Given the description of an element on the screen output the (x, y) to click on. 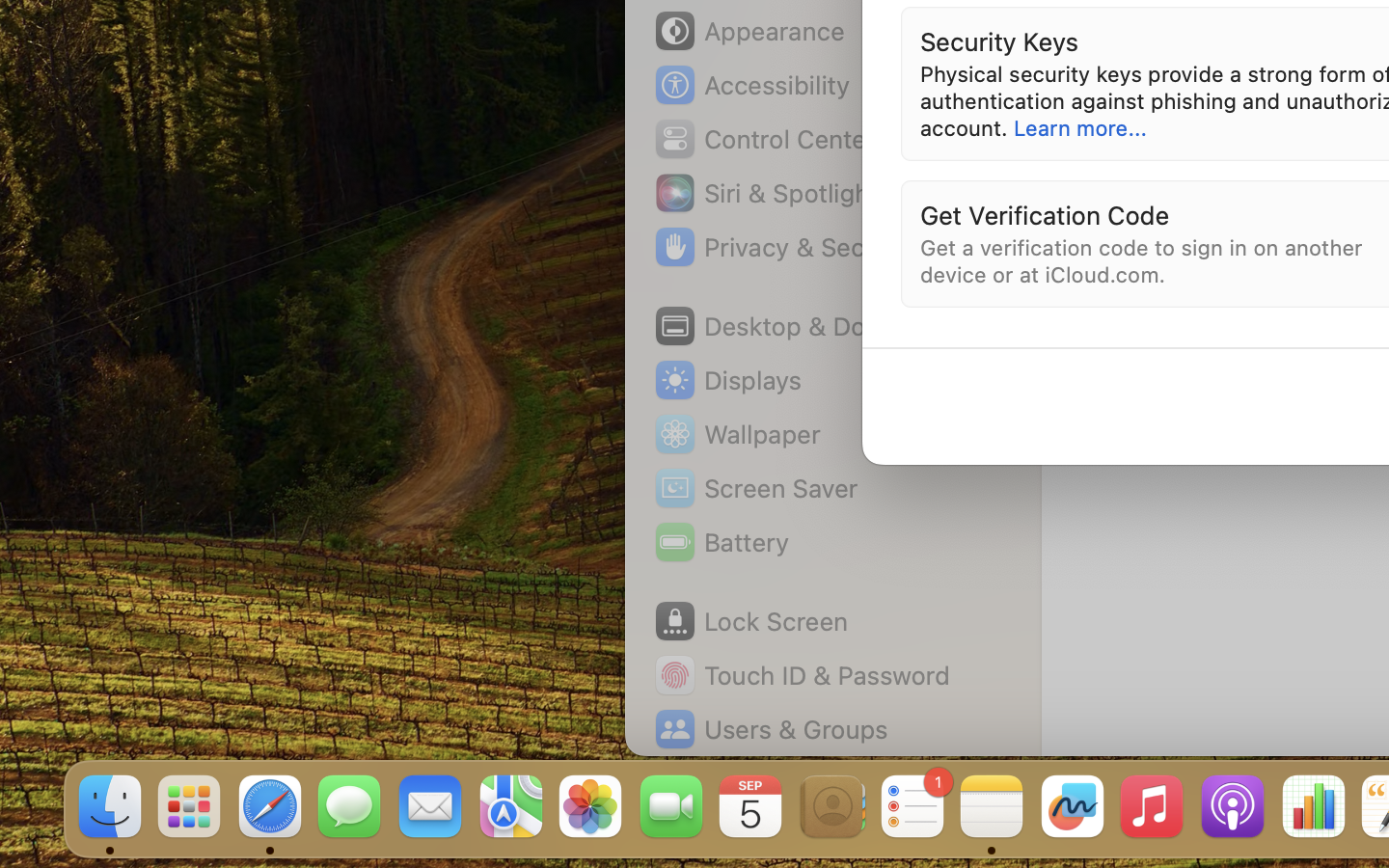
Desktop & Dock Element type: AXStaticText (772, 325)
Battery Element type: AXStaticText (720, 541)
Privacy & Security Element type: AXStaticText (784, 246)
Wallpaper Element type: AXStaticText (735, 433)
Appearance Element type: AXStaticText (748, 30)
